Given the description of an element on the screen output the (x, y) to click on. 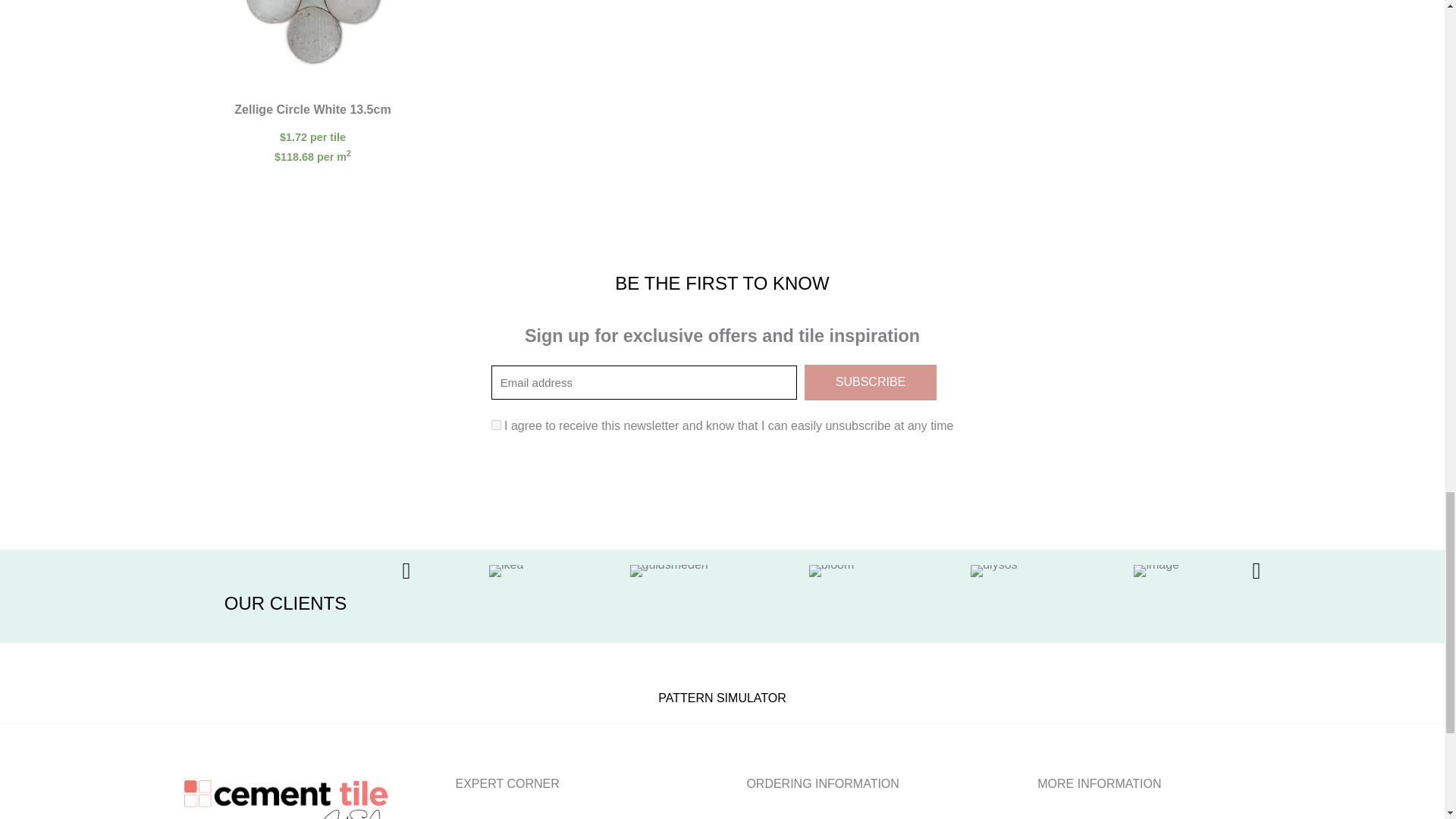
on (496, 424)
